Given the description of an element on the screen output the (x, y) to click on. 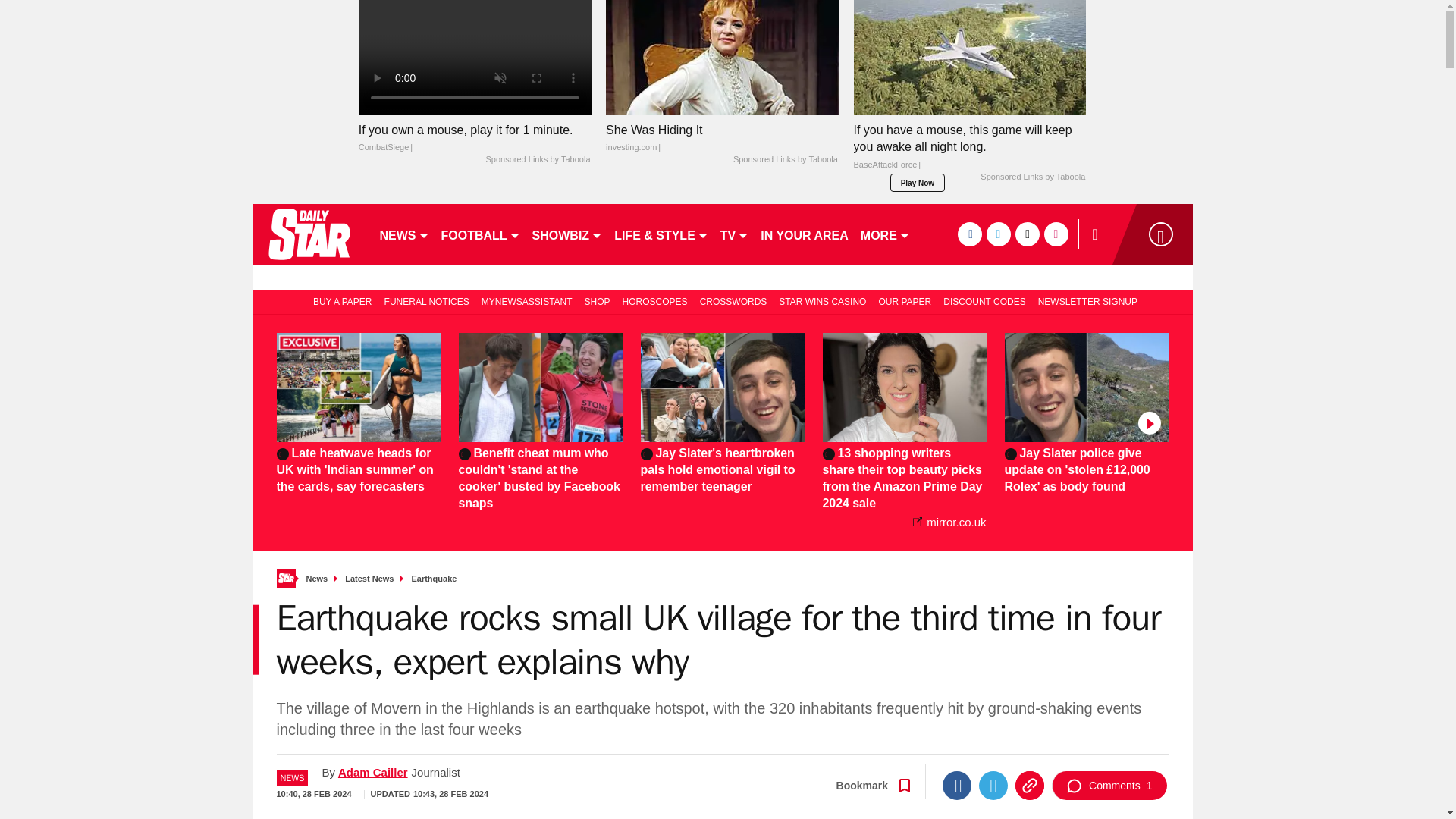
Sponsored Links by Taboola (785, 159)
Sponsored Links by Taboola (536, 159)
Play Now (916, 182)
Facebook (956, 785)
If you own a mouse, play it for 1 minute. (474, 57)
twitter (997, 233)
FOOTBALL (480, 233)
instagram (1055, 233)
NEWS (402, 233)
She Was Hiding It (721, 57)
If you own a mouse, play it for 1 minute. (474, 138)
tiktok (1026, 233)
dailystar (308, 233)
She Was Hiding It (721, 138)
